Given the description of an element on the screen output the (x, y) to click on. 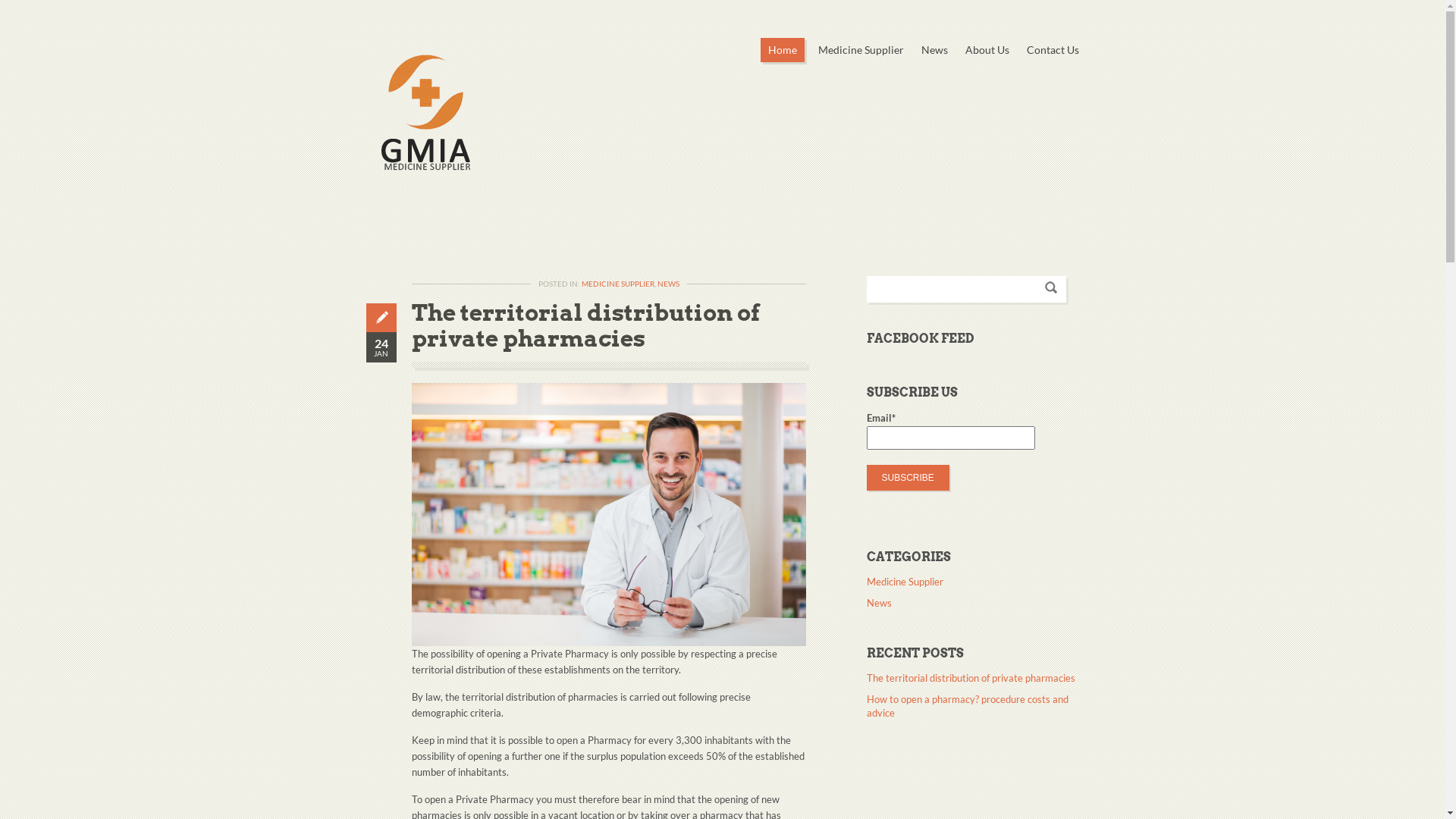
MEDICINE SUPPLIER Element type: text (616, 283)
NEWS Element type: text (667, 283)
How to open a pharmacy? procedure costs and advice Element type: text (972, 707)
Contact Us Element type: text (1052, 49)
Medicine Supplier Element type: text (859, 49)
About Us Element type: text (986, 49)
Home Element type: text (781, 49)
News Element type: text (878, 604)
The territorial distribution of private pharmacies Element type: text (970, 679)
Medicine Supplier Element type: text (904, 583)
News Element type: text (933, 49)
Search Element type: text (1050, 287)
The territorial distribution of private pharmacies Element type: text (585, 324)
Subscribe Element type: text (907, 477)
